Given the description of an element on the screen output the (x, y) to click on. 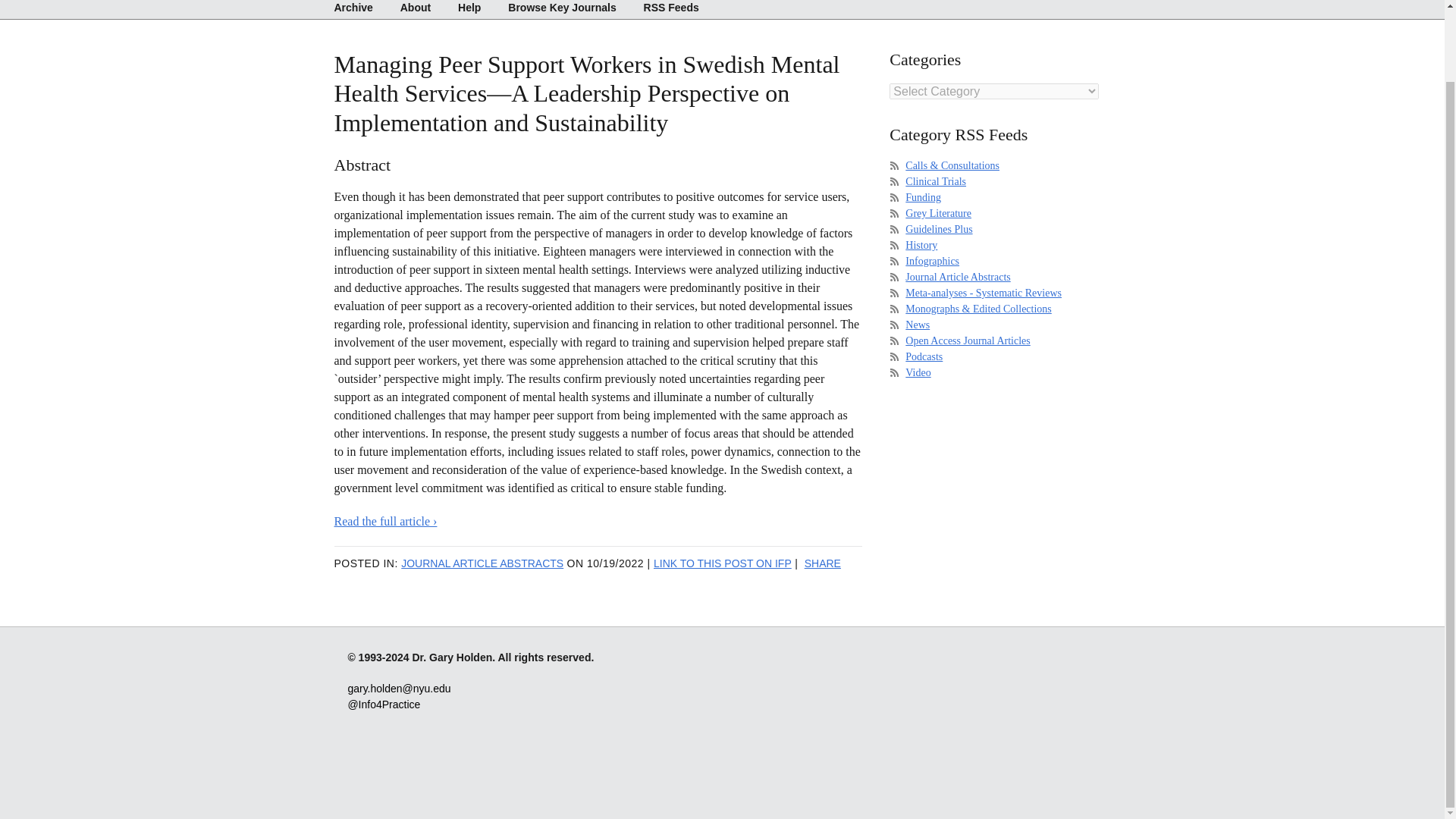
Guidelines Plus (938, 229)
Help (469, 9)
SHARE (823, 563)
News (917, 324)
Funding (922, 197)
JOURNAL ARTICLE ABSTRACTS (482, 563)
Infographics (932, 260)
Podcasts (923, 356)
History (921, 244)
Clinical Trials (935, 181)
